Given the description of an element on the screen output the (x, y) to click on. 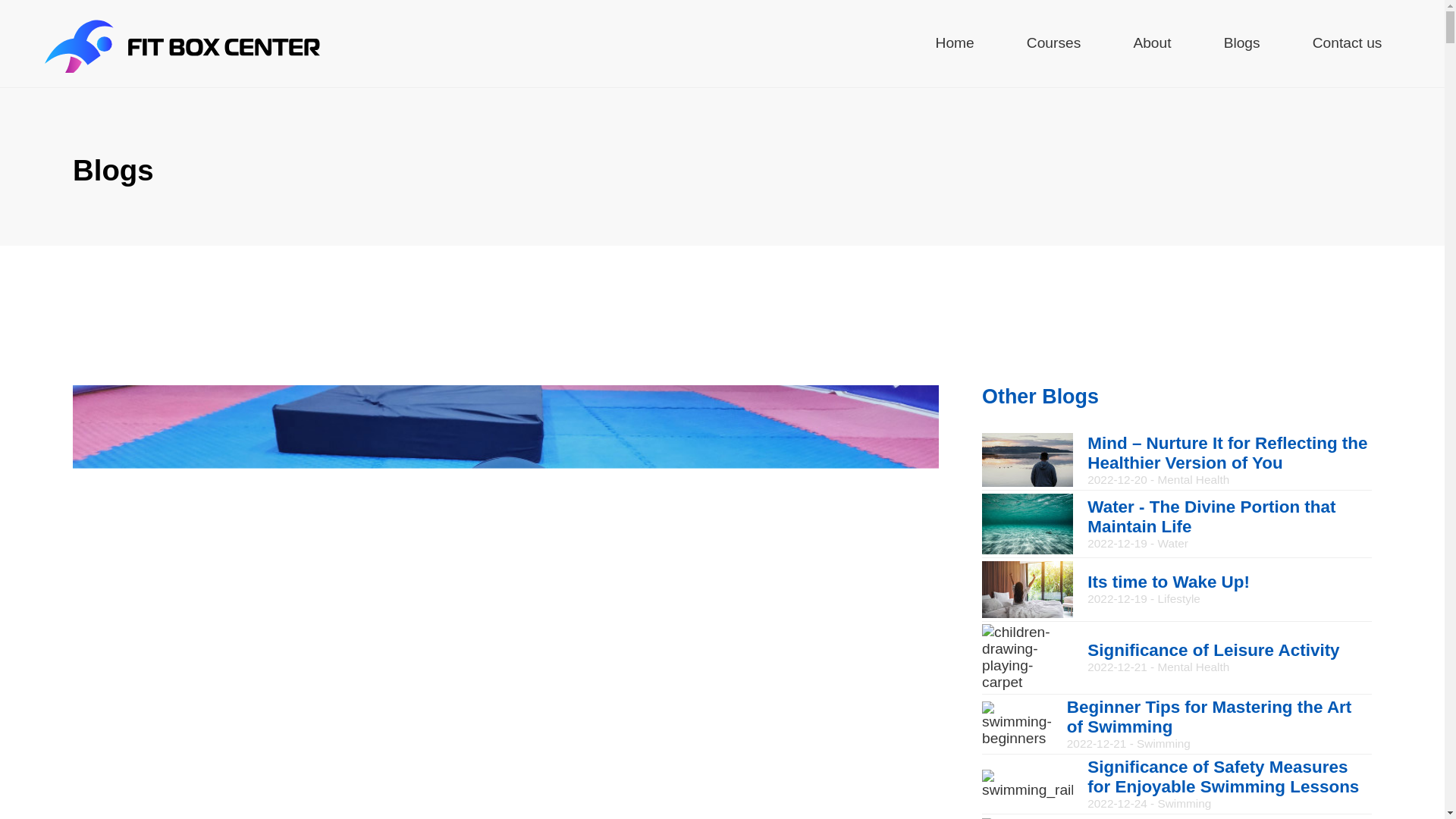
About (1151, 44)
Home (955, 44)
Contact us (1347, 44)
Blogs (1242, 44)
Courses (1053, 44)
